Given the description of an element on the screen output the (x, y) to click on. 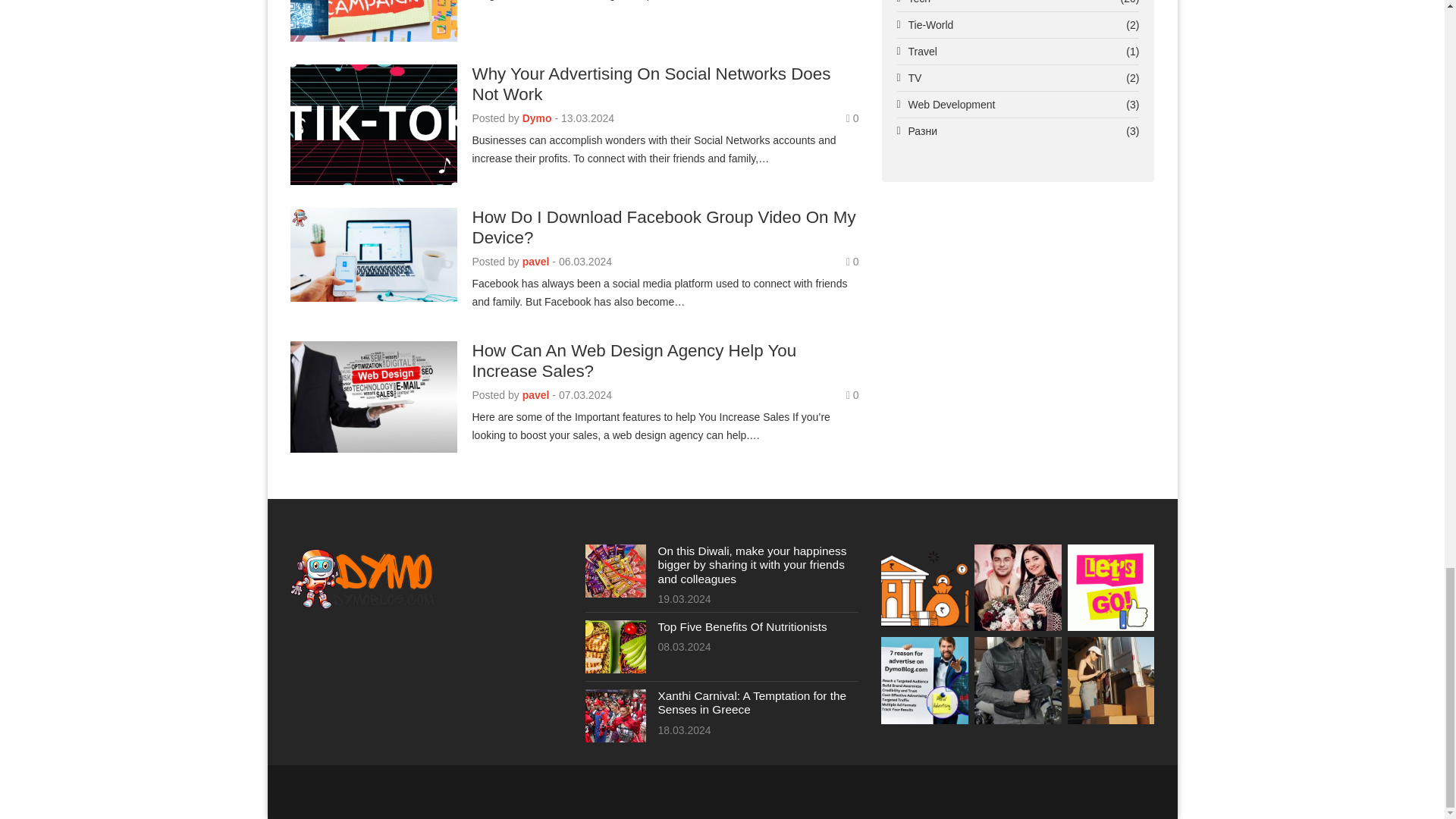
Posts by pavel (536, 261)
Posts by Dymo (536, 118)
Posts by pavel (536, 395)
